Given the description of an element on the screen output the (x, y) to click on. 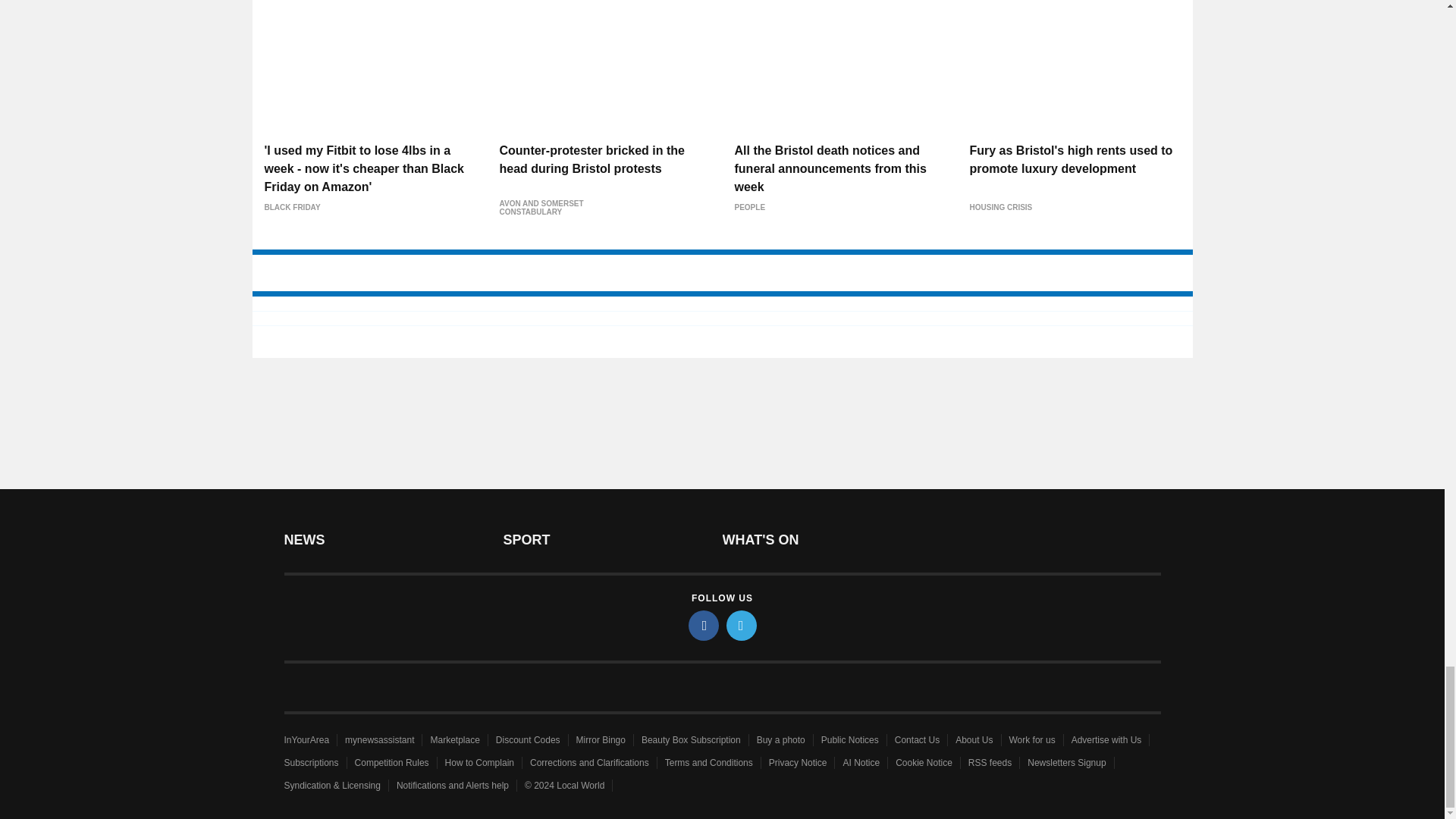
twitter (741, 625)
facebook (703, 625)
